Given the description of an element on the screen output the (x, y) to click on. 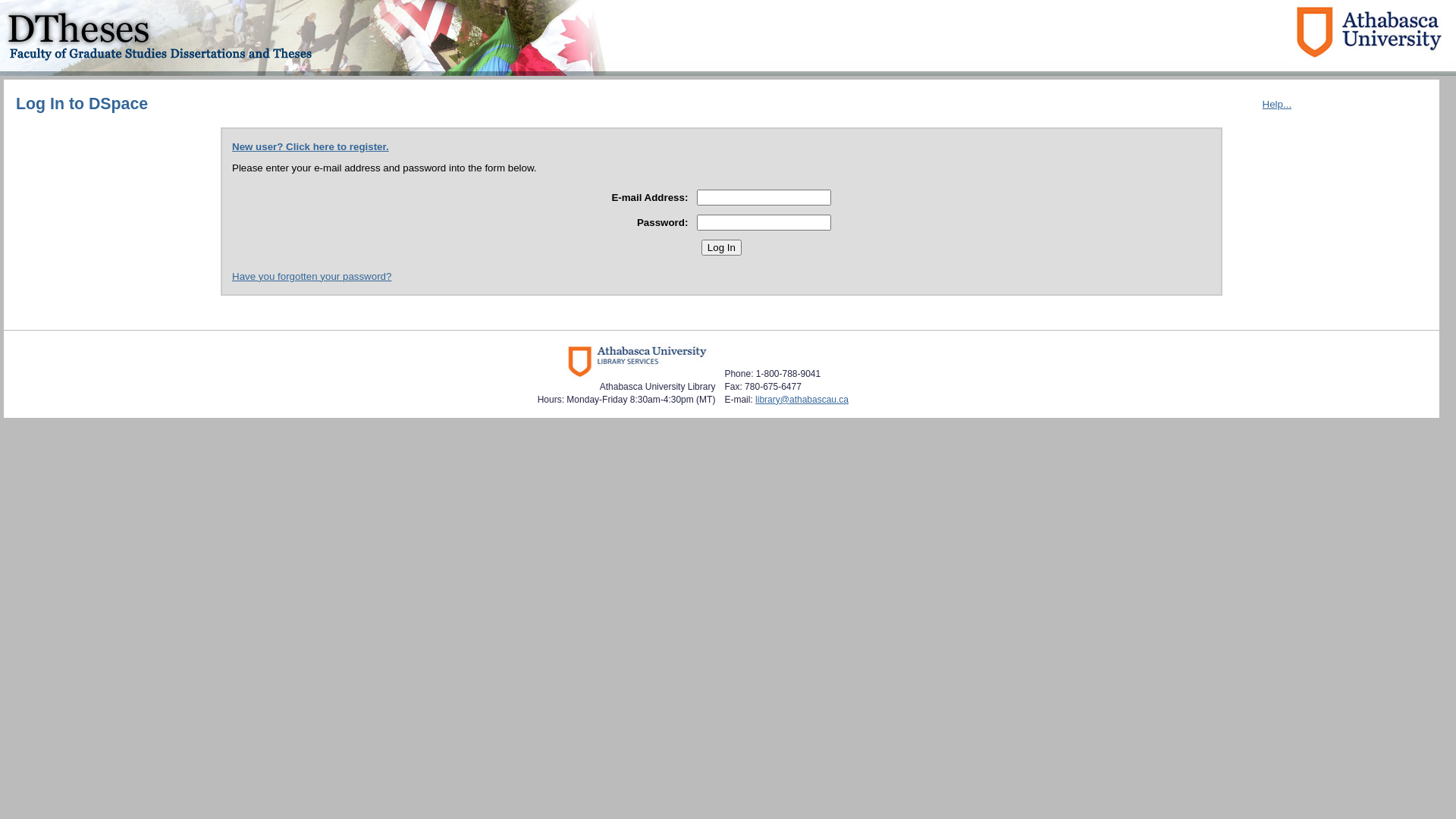
Log In Element type: text (721, 247)
New user? Click here to register. Element type: text (310, 146)
Have you forgotten your password? Element type: text (311, 276)
library@athabascau.ca Element type: text (801, 399)
Help... Element type: text (1277, 103)
